Given the description of an element on the screen output the (x, y) to click on. 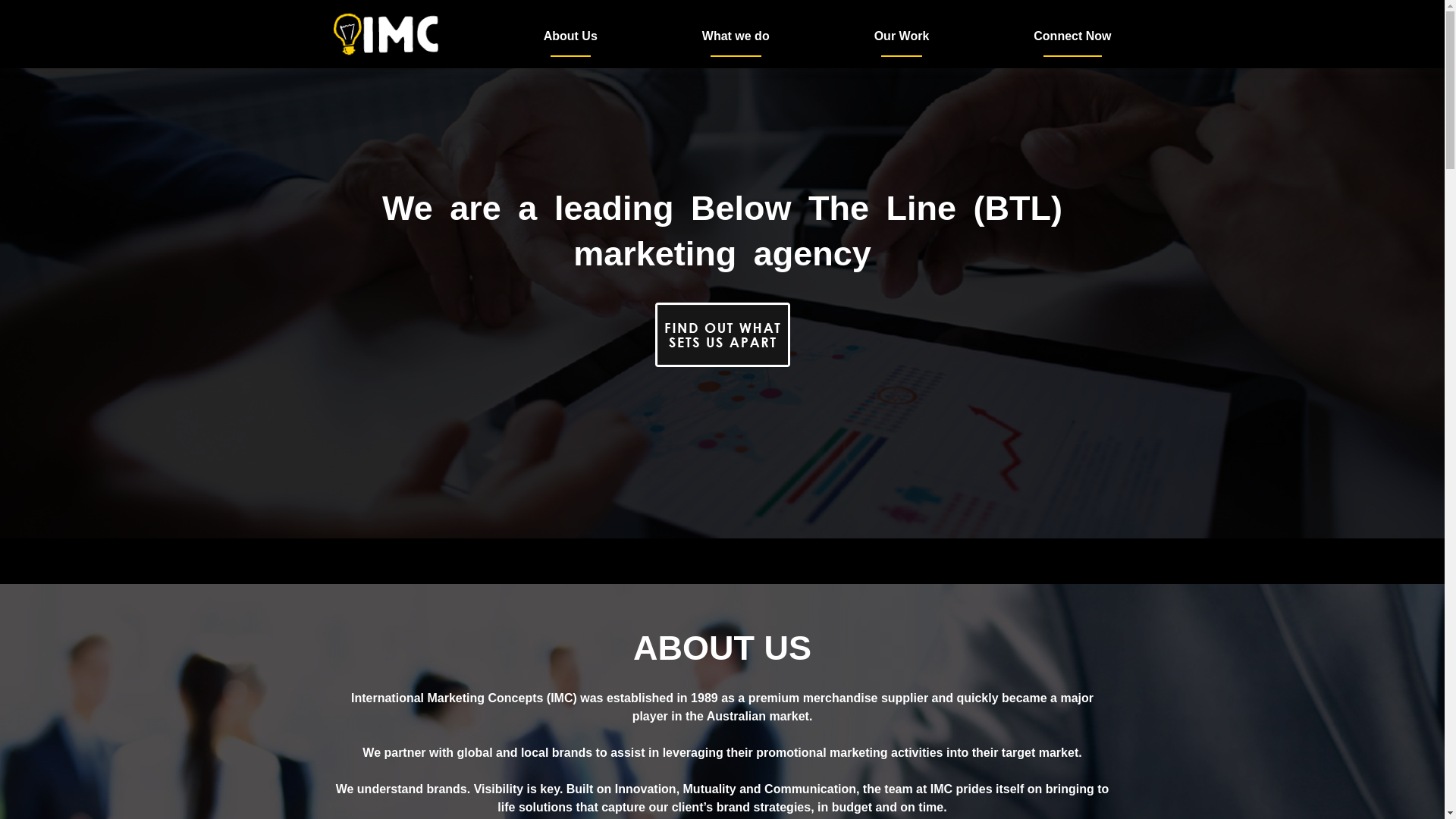
Connect Now Element type: text (1071, 35)
About Us Element type: text (570, 35)
Our Work Element type: text (901, 35)
What we do Element type: text (735, 35)
